Given the description of an element on the screen output the (x, y) to click on. 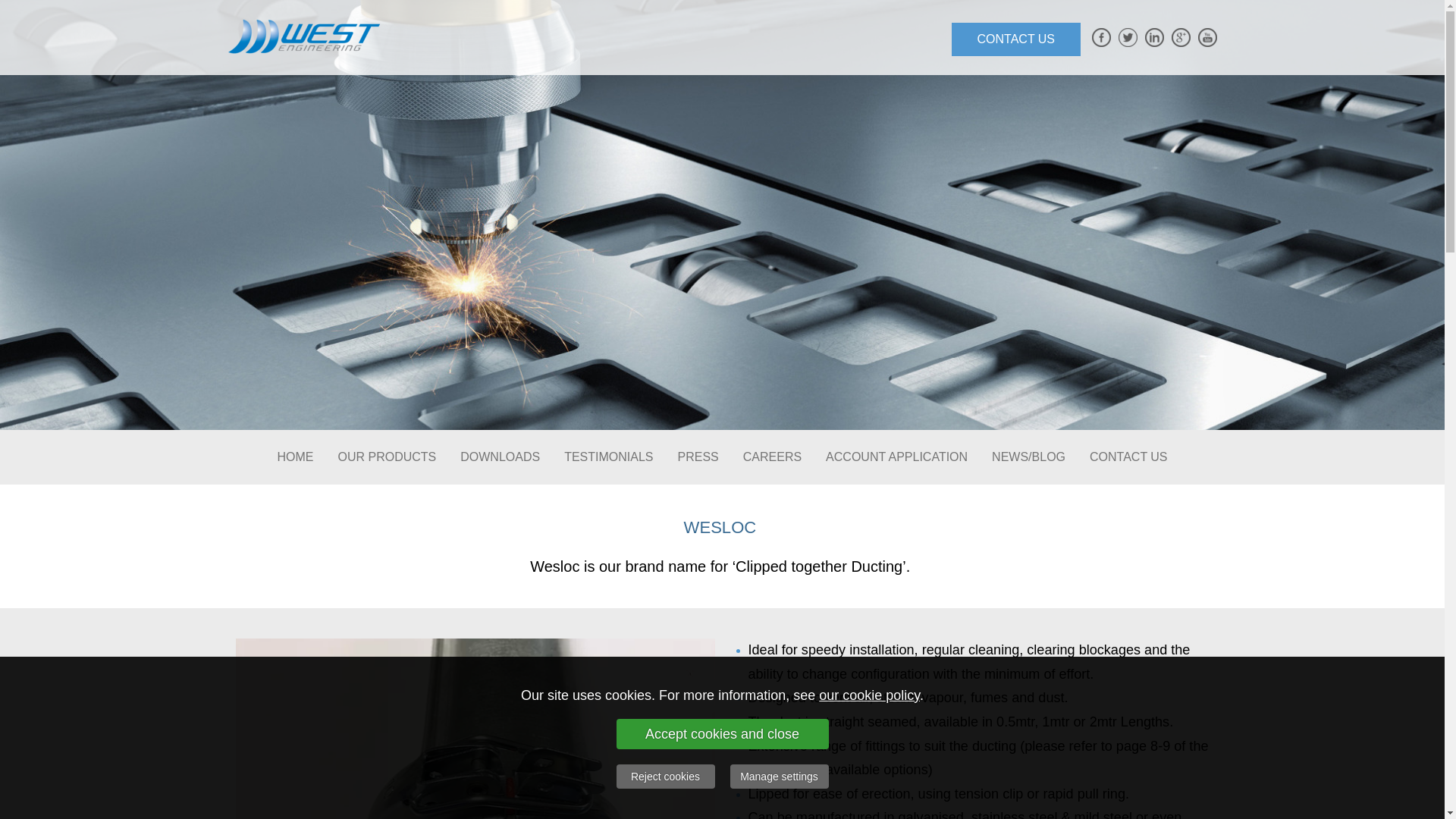
CAREERS (771, 456)
CONTACT US (1128, 456)
HOME (294, 456)
DOWNLOADS (499, 456)
OUR PRODUCTS (386, 456)
ACCOUNT APPLICATION (896, 456)
TESTIMONIALS (608, 456)
PRESS (697, 456)
our cookie policy (869, 694)
CONTACT US (1016, 39)
